Given the description of an element on the screen output the (x, y) to click on. 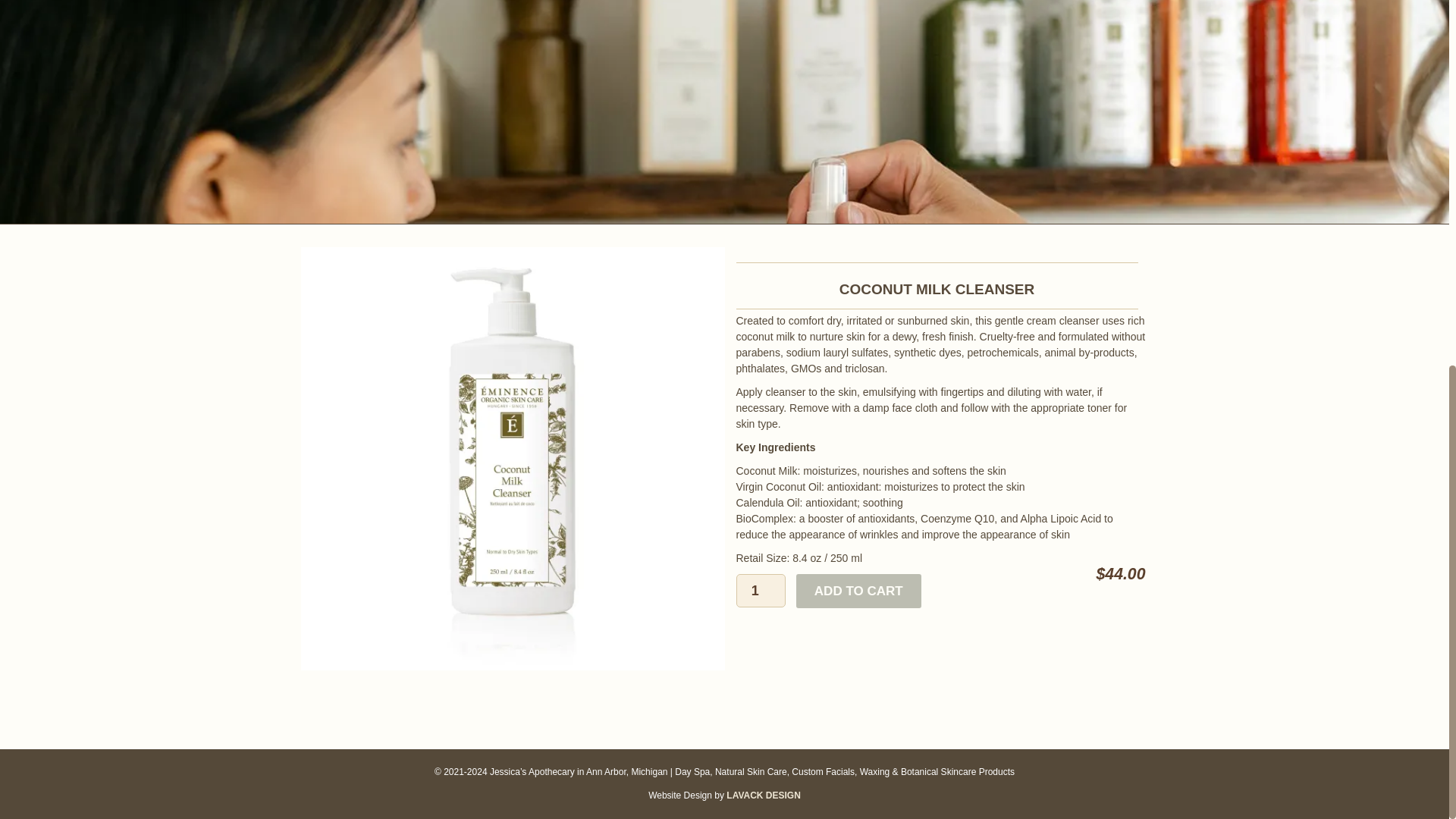
1 (759, 590)
